Given the description of an element on the screen output the (x, y) to click on. 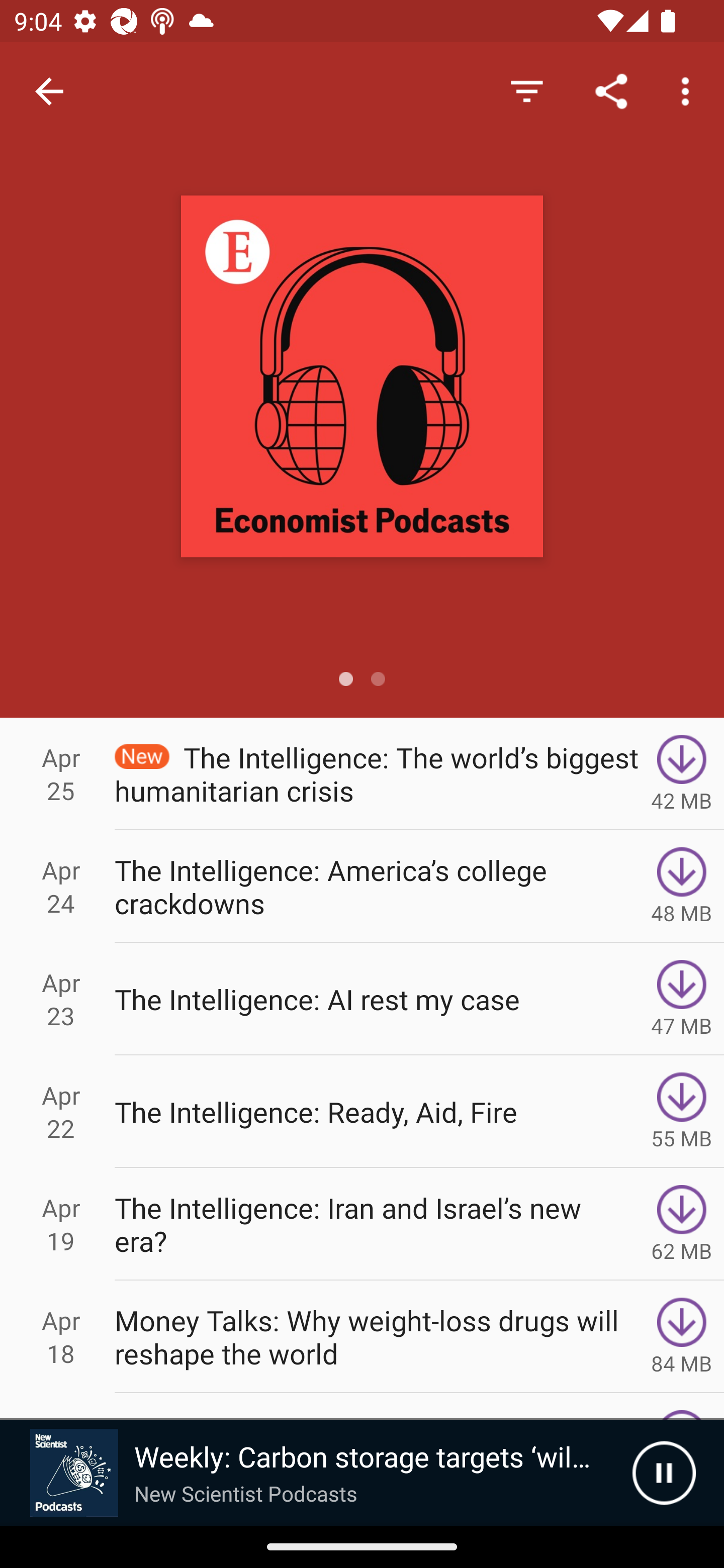
Navigate up (49, 91)
Hide Episodes (526, 90)
Share Link (611, 90)
More options (688, 90)
Download 42 MB (681, 773)
Download 48 MB (681, 885)
Download 47 MB (681, 998)
Download 55 MB (681, 1111)
Download 62 MB (681, 1224)
Download 84 MB (681, 1336)
Pause (663, 1472)
